Given the description of an element on the screen output the (x, y) to click on. 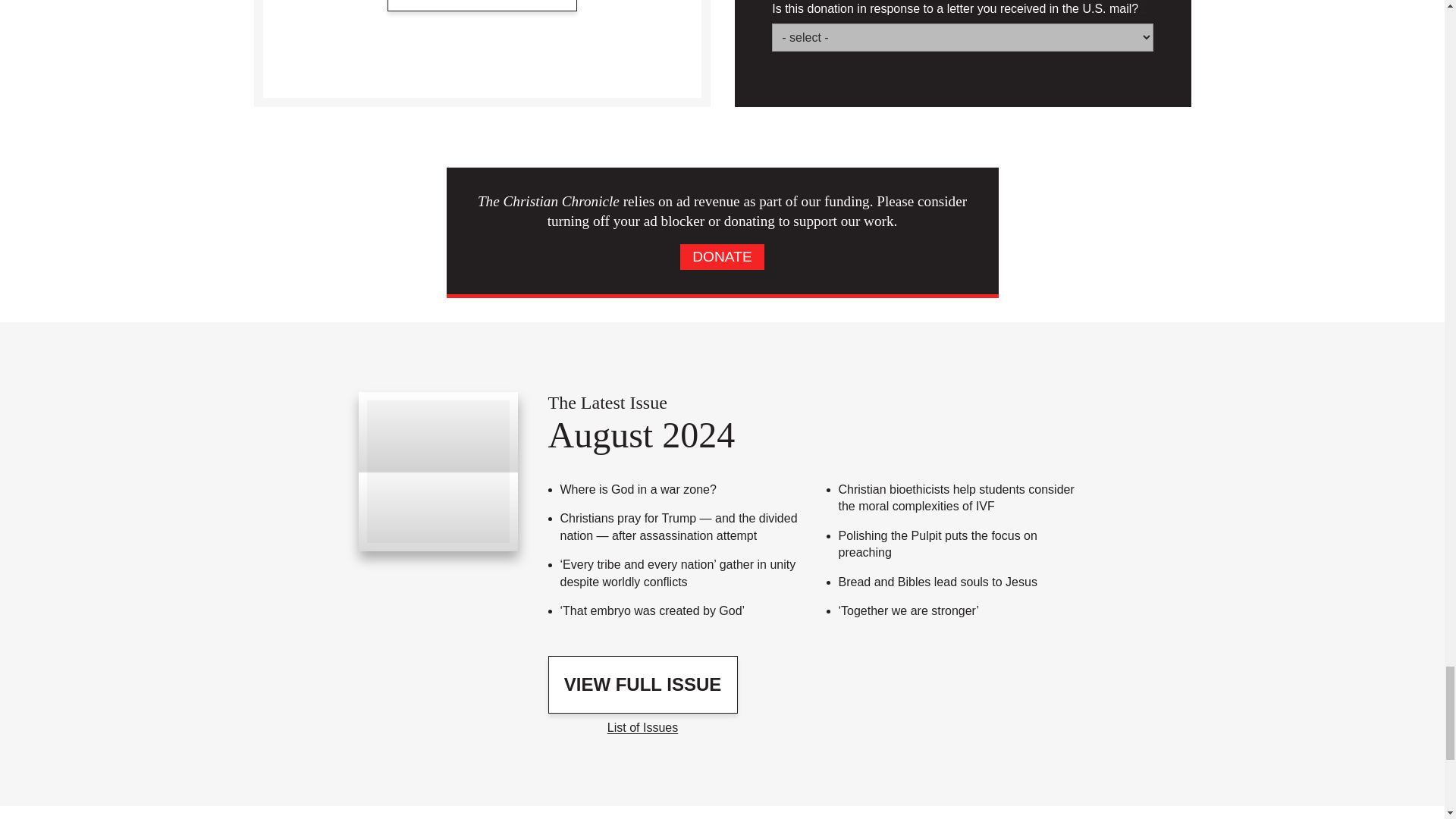
Sign up (481, 5)
